Given the description of an element on the screen output the (x, y) to click on. 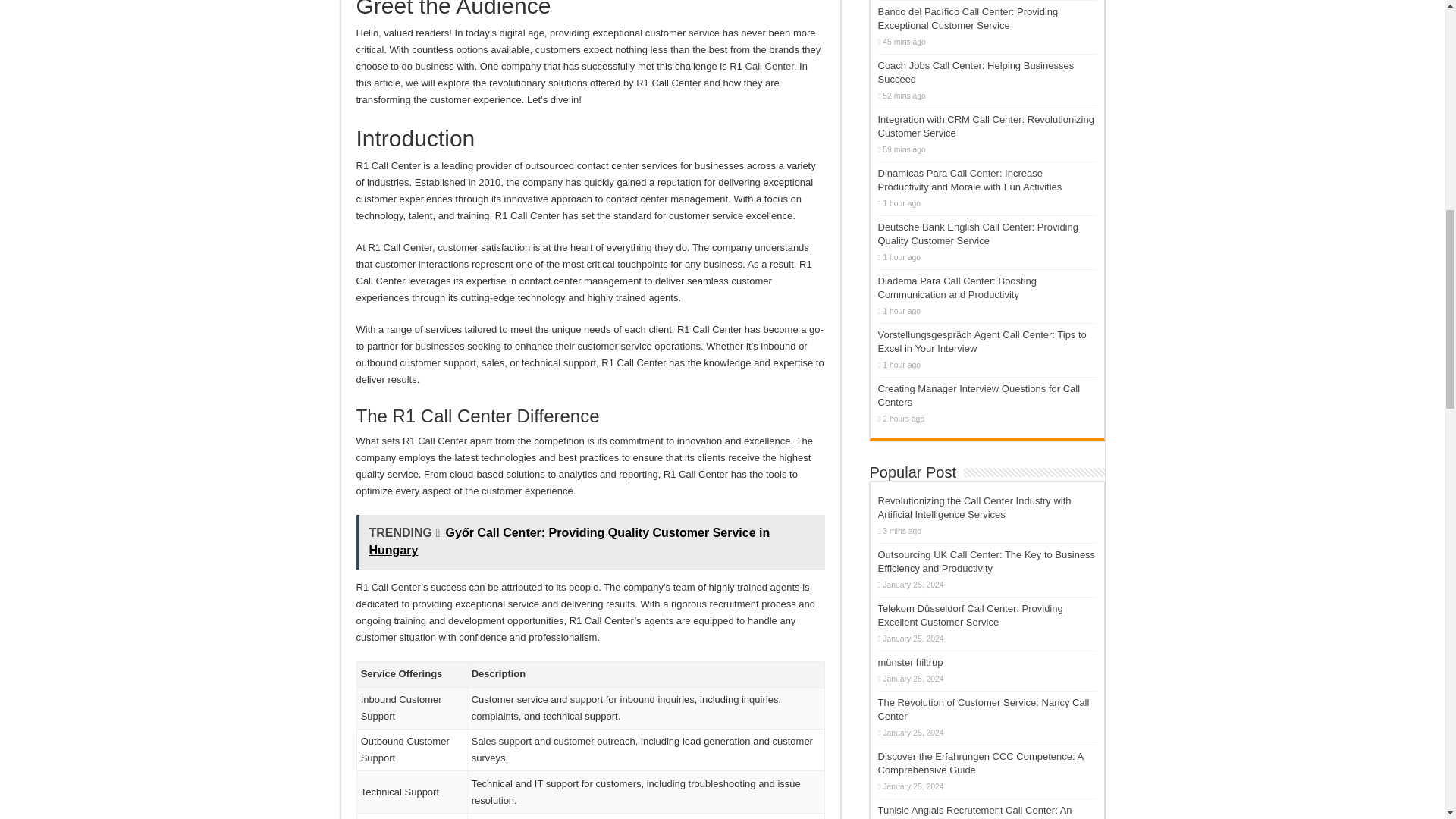
Call Center (769, 66)
service (703, 32)
Coach Jobs Call Center: Helping Businesses Succeed (975, 72)
Creating Manager Interview Questions for Call Centers (978, 395)
Call Center (769, 66)
service (703, 32)
